Given the description of an element on the screen output the (x, y) to click on. 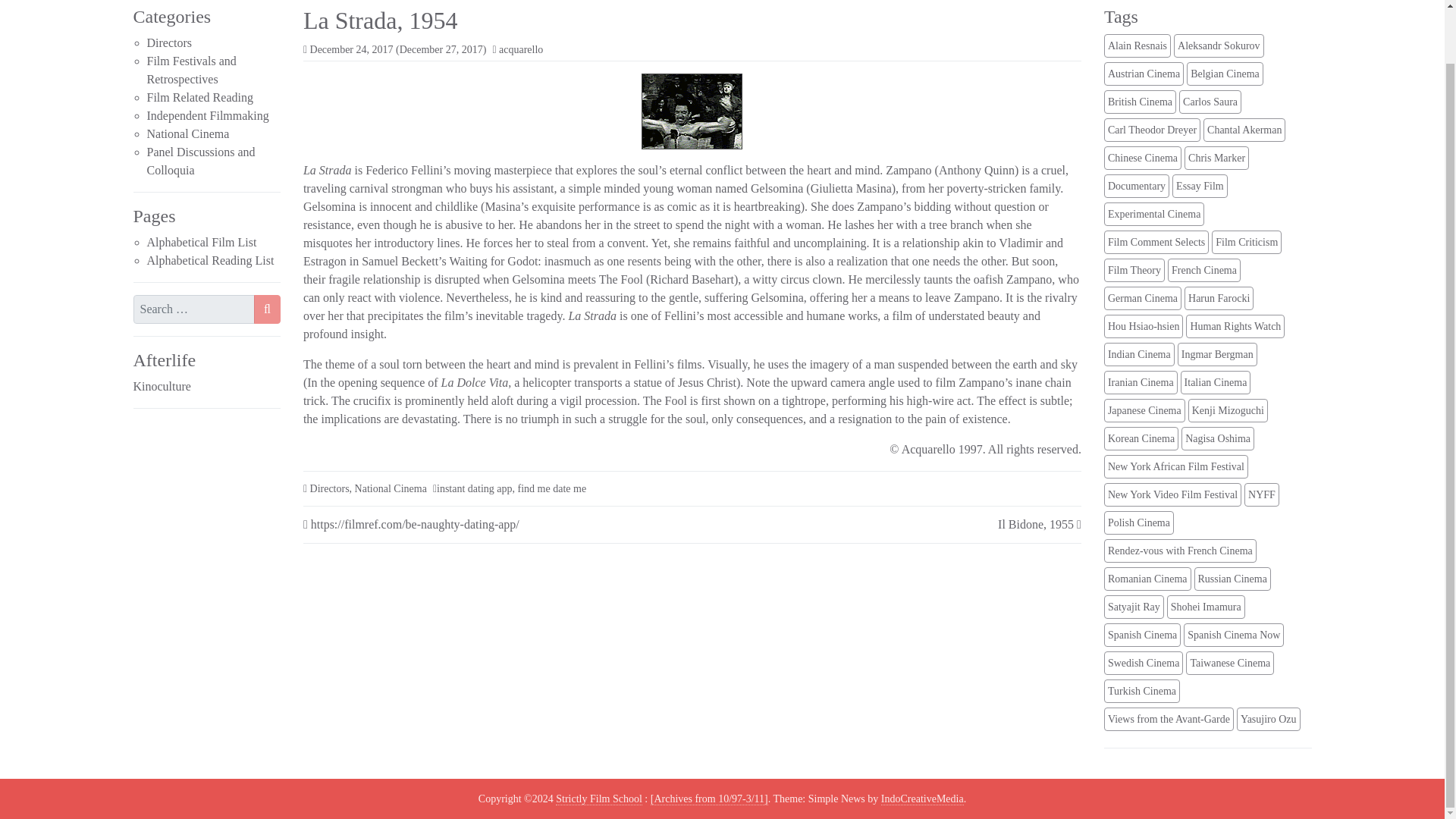
Kinoculture (161, 386)
Alain Resnais (1136, 45)
Independent Filmmaking (208, 115)
Film Festivals and Retrospectives (191, 69)
instant dating app (474, 488)
British Cinema (1139, 101)
National Cinema (188, 133)
Panel Discussions and Colloquia (201, 160)
Chinese Cinema (1141, 157)
Experimental Cinema (1153, 214)
